Given the description of an element on the screen output the (x, y) to click on. 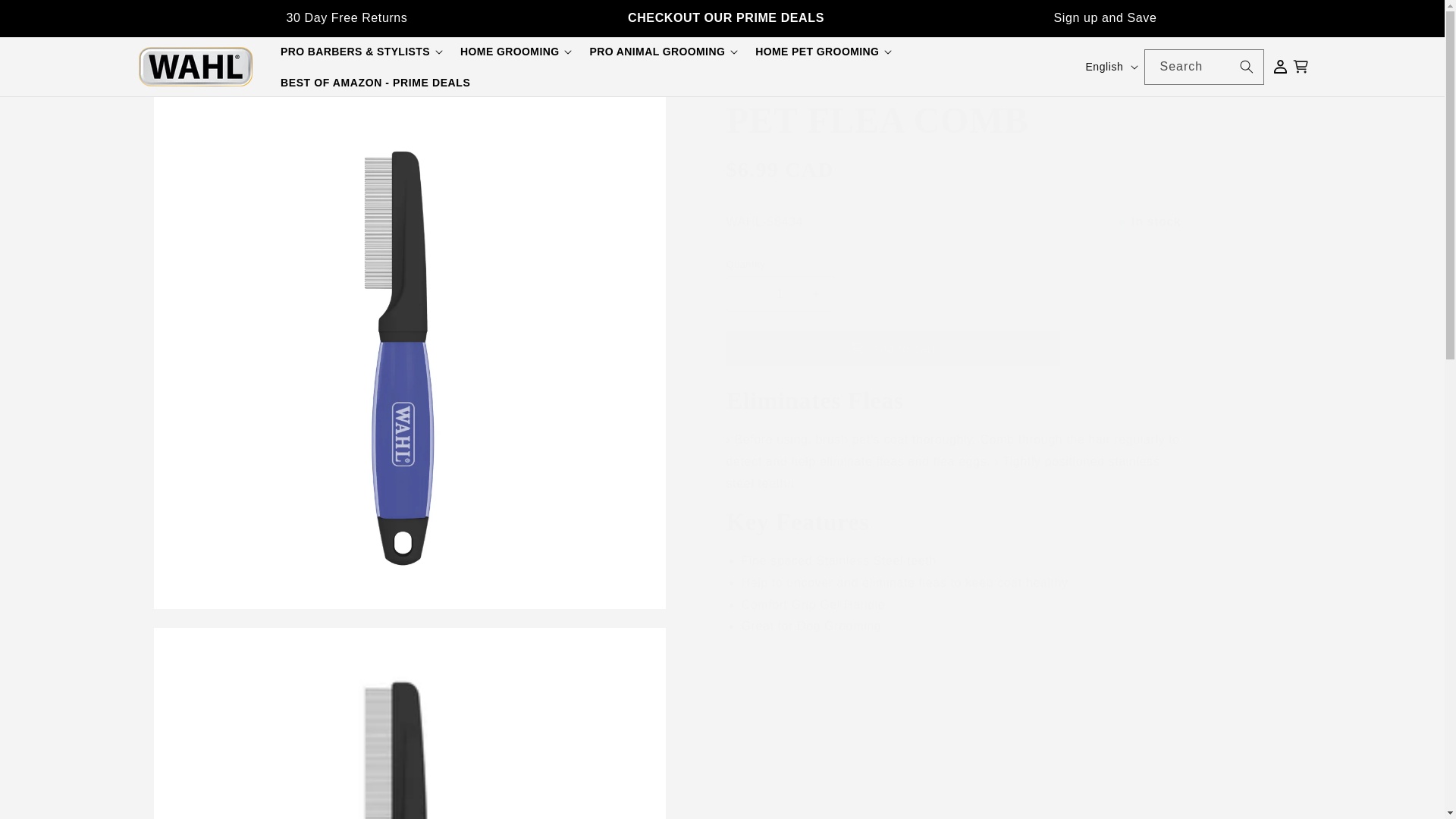
CHECKOUT OUR PRIME DEALS (725, 17)
Sign up and Save (1105, 17)
Best of Amazon (725, 17)
Skip to content (45, 17)
1 (780, 294)
